Given the description of an element on the screen output the (x, y) to click on. 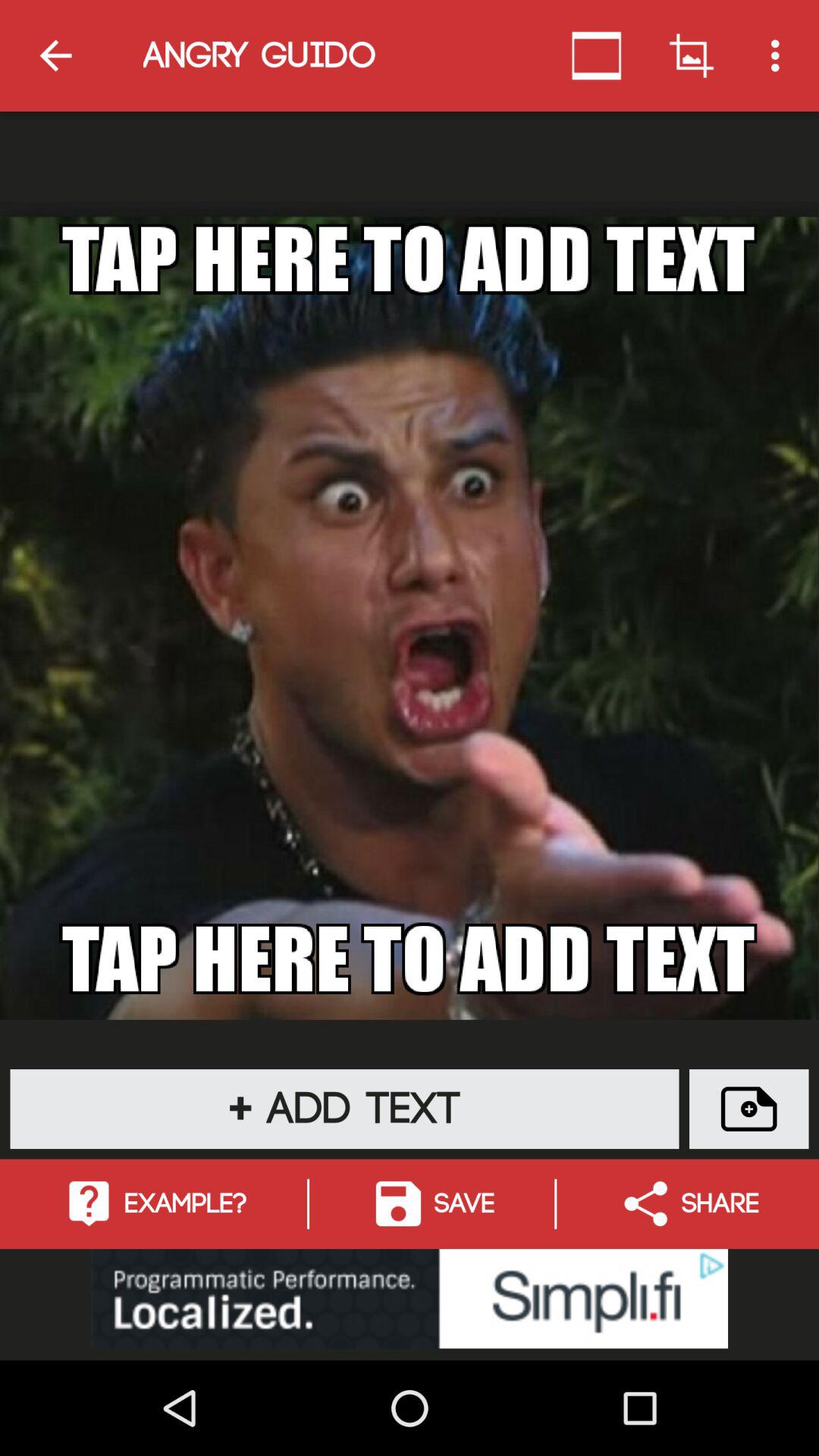
open text option (748, 1108)
